Given the description of an element on the screen output the (x, y) to click on. 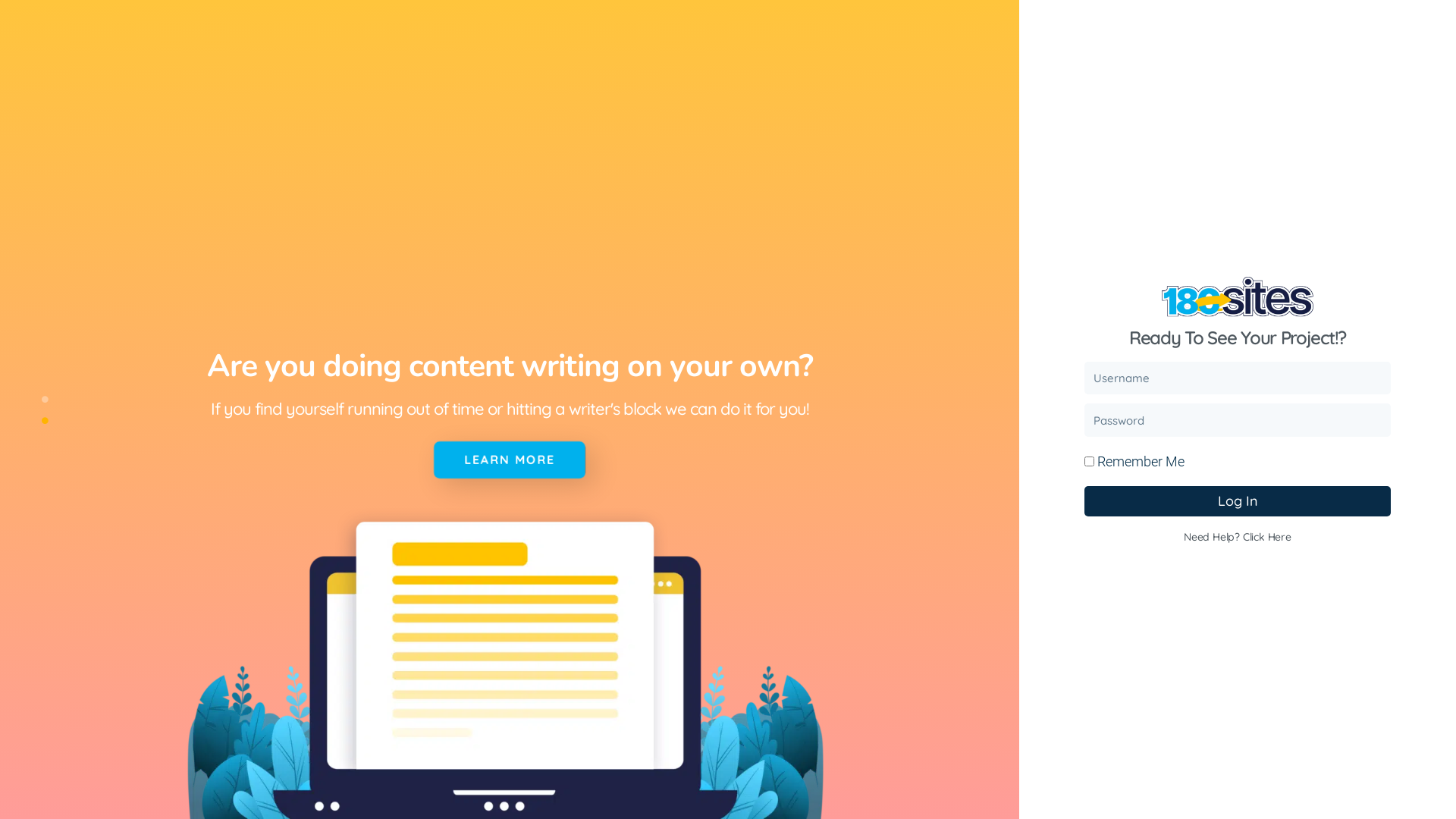
Log In Element type: text (1237, 501)
Need Help? Click Here Element type: text (1237, 536)
LEARN MORE Element type: text (509, 459)
